Given the description of an element on the screen output the (x, y) to click on. 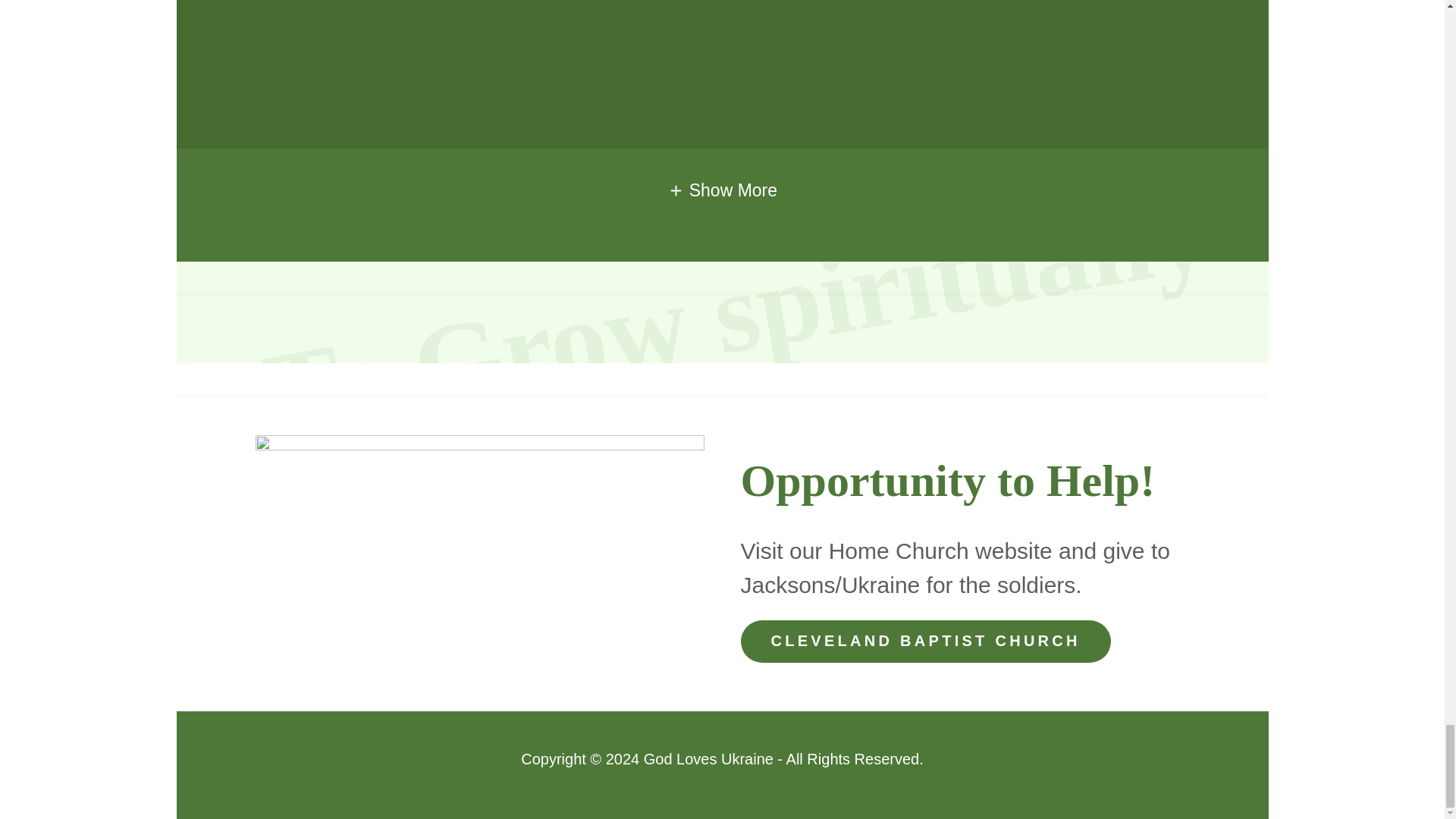
CLEVELAND BAPTIST CHURCH (924, 640)
Show More (721, 189)
